Given the description of an element on the screen output the (x, y) to click on. 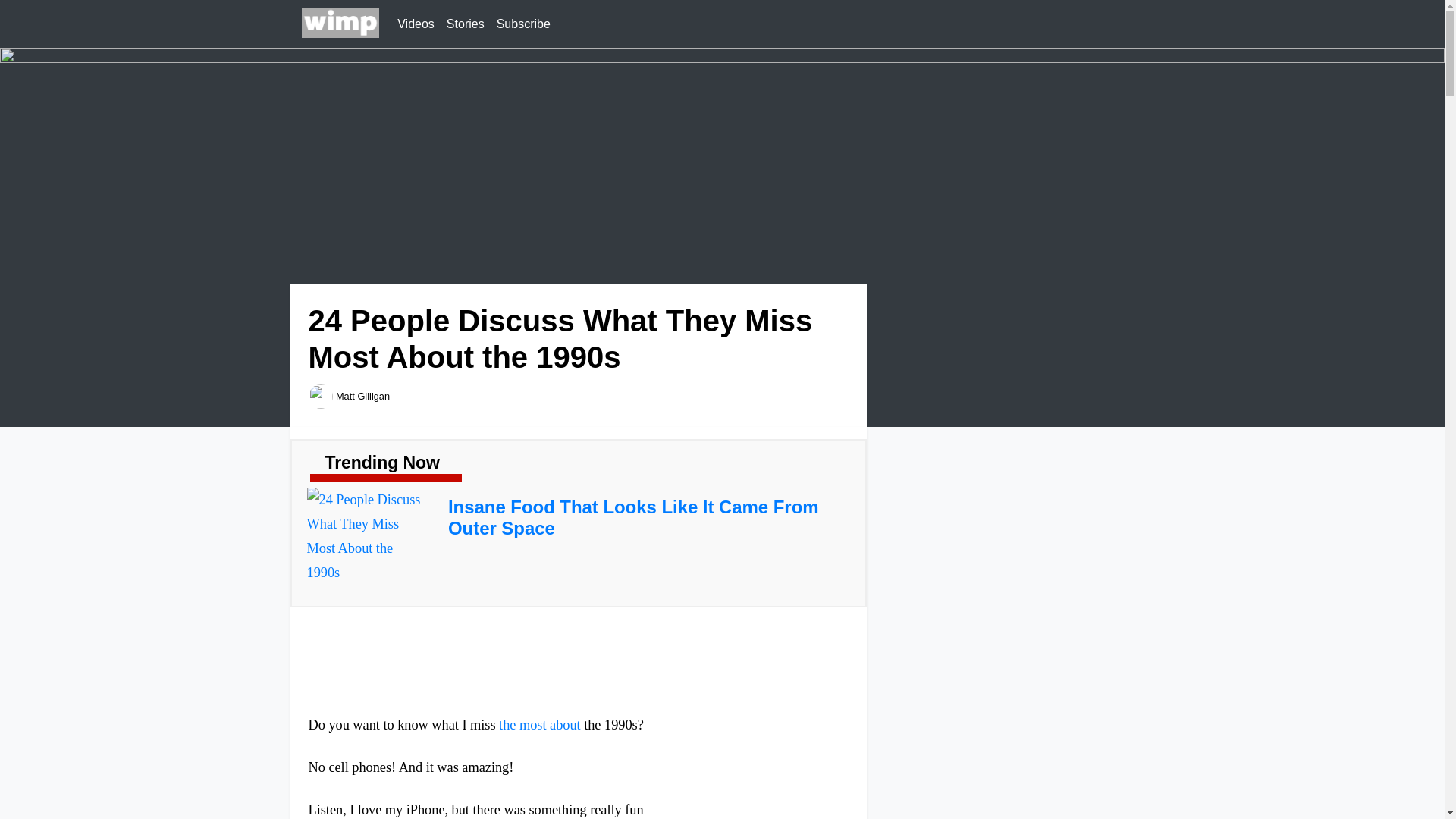
Videos (416, 24)
Matt Gilligan (363, 396)
Subscribe (523, 24)
the most about (539, 724)
Stories (465, 24)
Wimp (340, 23)
Insane Food That Looks Like It Came From Outer Space (633, 517)
Posts by Matt Gilligan (363, 396)
